Given the description of an element on the screen output the (x, y) to click on. 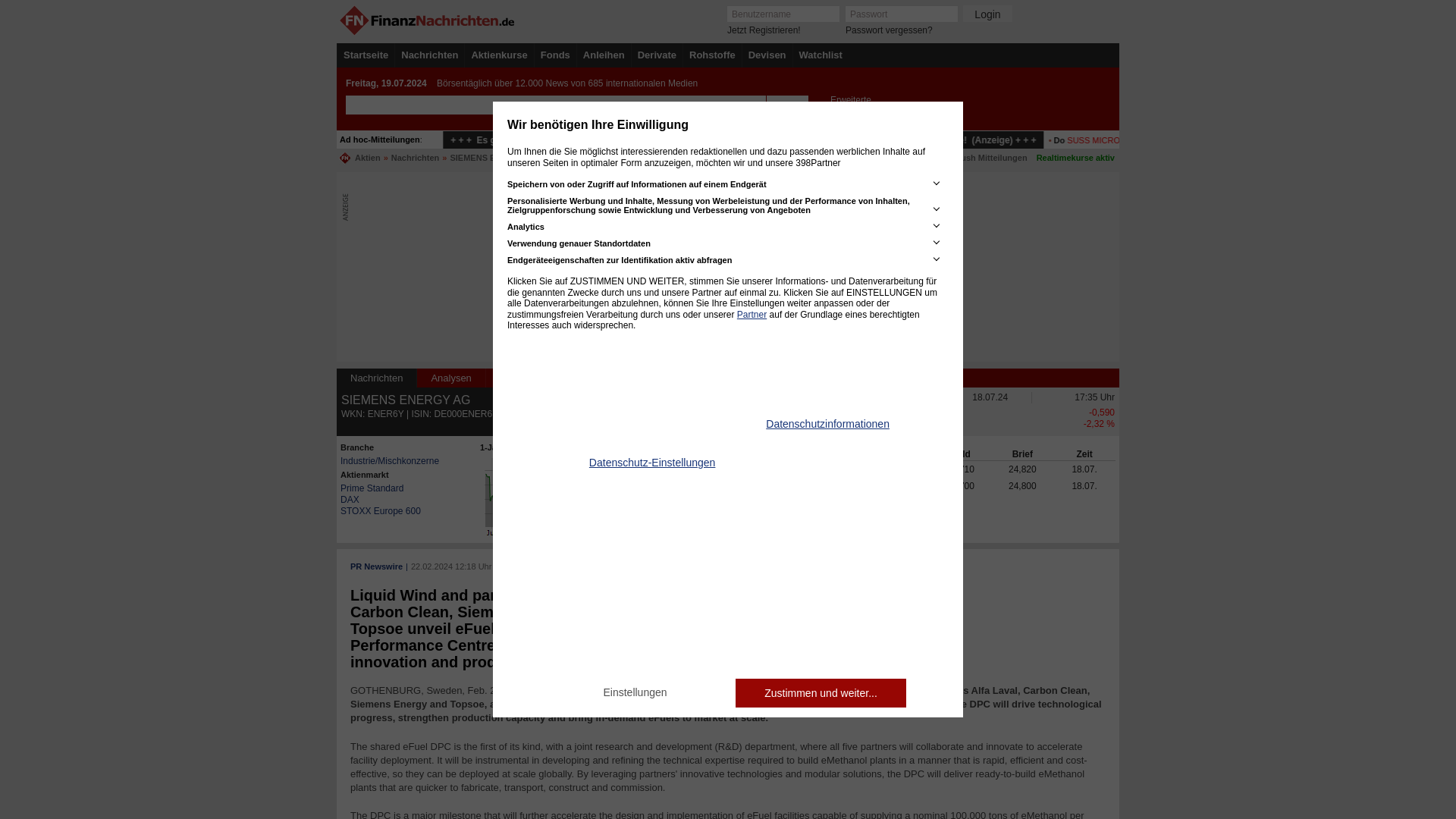
Passwort vergessen? (889, 30)
Suchen (786, 104)
Nachrichten (429, 55)
Startseite (365, 55)
Jetzt Registrieren! (763, 30)
Login (986, 13)
